Given the description of an element on the screen output the (x, y) to click on. 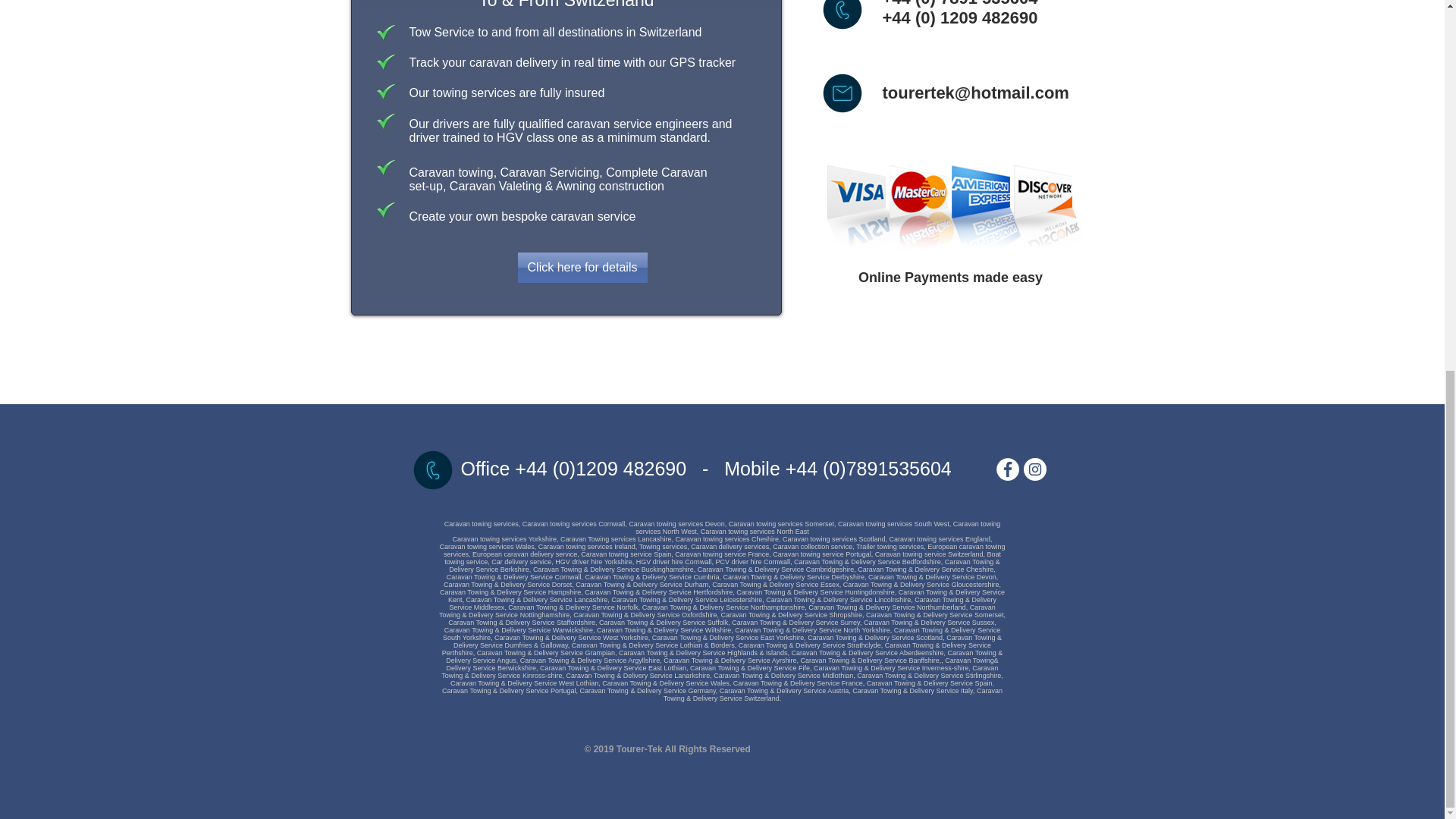
Click here for details (581, 267)
